Given the description of an element on the screen output the (x, y) to click on. 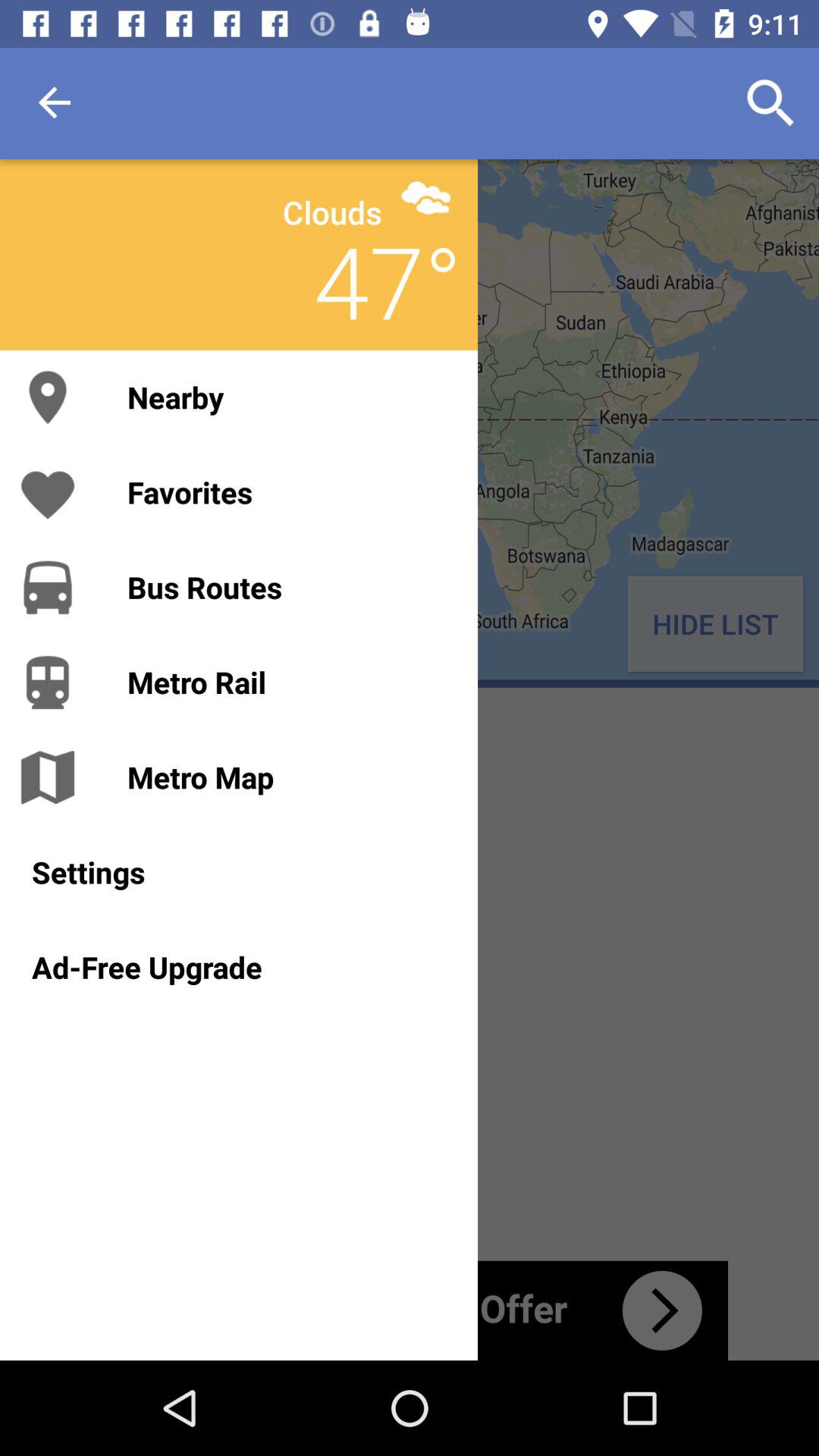
turn off the item above the nearby icon (387, 280)
